Given the description of an element on the screen output the (x, y) to click on. 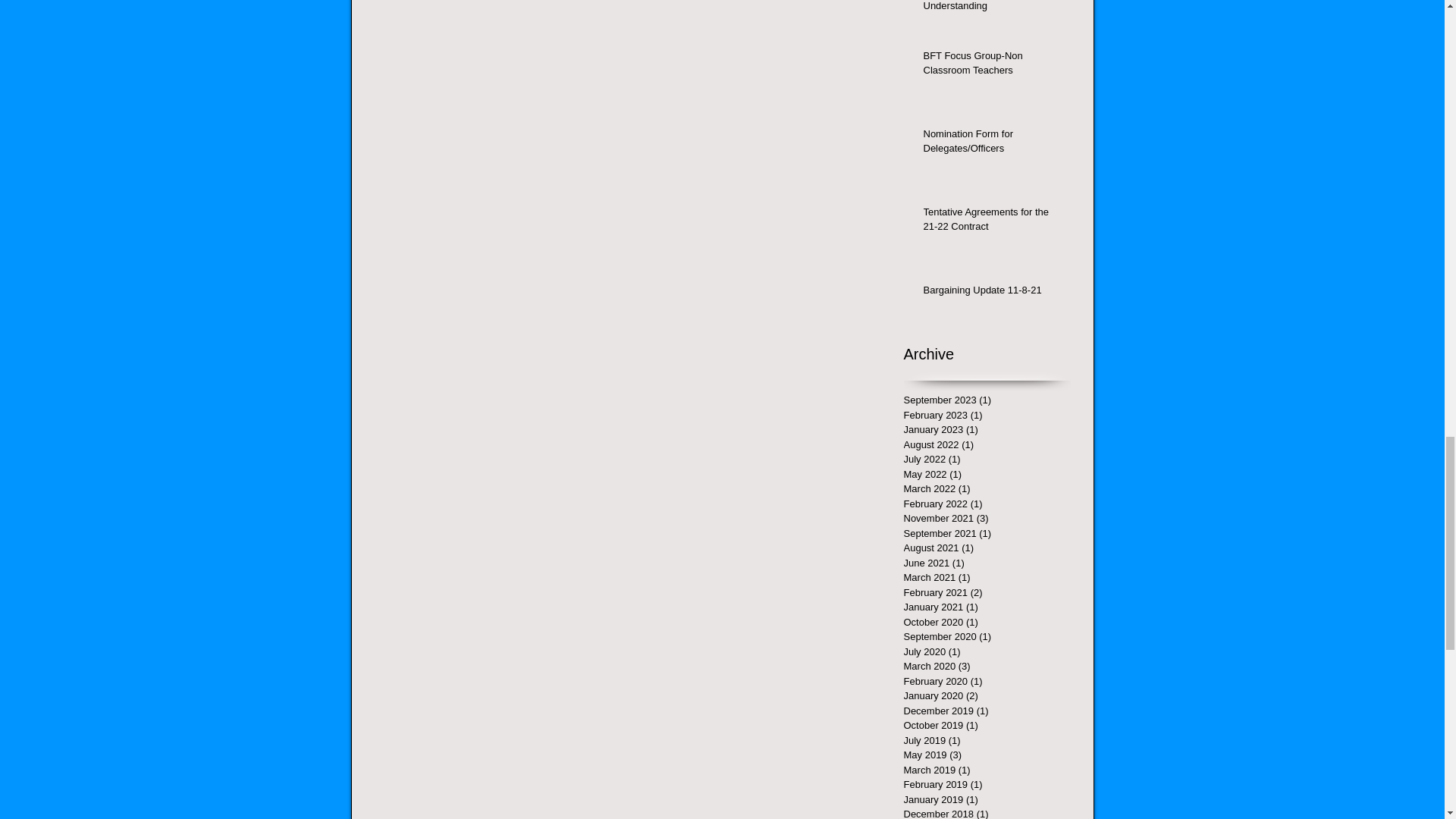
BFT Focus Group-Non Classroom Teachers (992, 65)
2021-2022 COVID Memorandums of Understanding (992, 9)
Bargaining Update 11-8-21 (992, 293)
Tentative Agreements for the 21-22 Contract (992, 222)
